Given the description of an element on the screen output the (x, y) to click on. 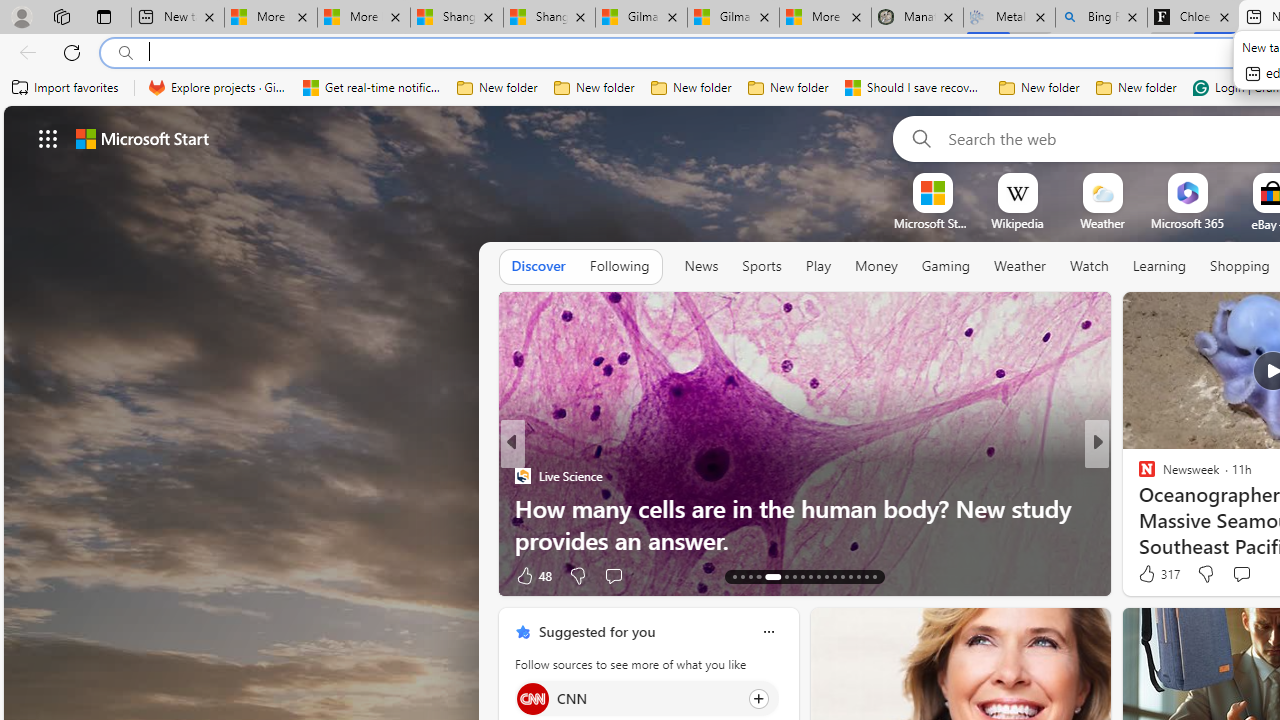
View comments 12 Comment (1229, 575)
View comments 2 Comment (1222, 575)
AutomationID: tab-19 (793, 576)
Microsoft 365 (1186, 223)
AutomationID: tab-39 (874, 576)
Search icon (125, 53)
AutomationID: tab-20 (801, 576)
Manatee Mortality Statistics | FWC (916, 17)
